Given the description of an element on the screen output the (x, y) to click on. 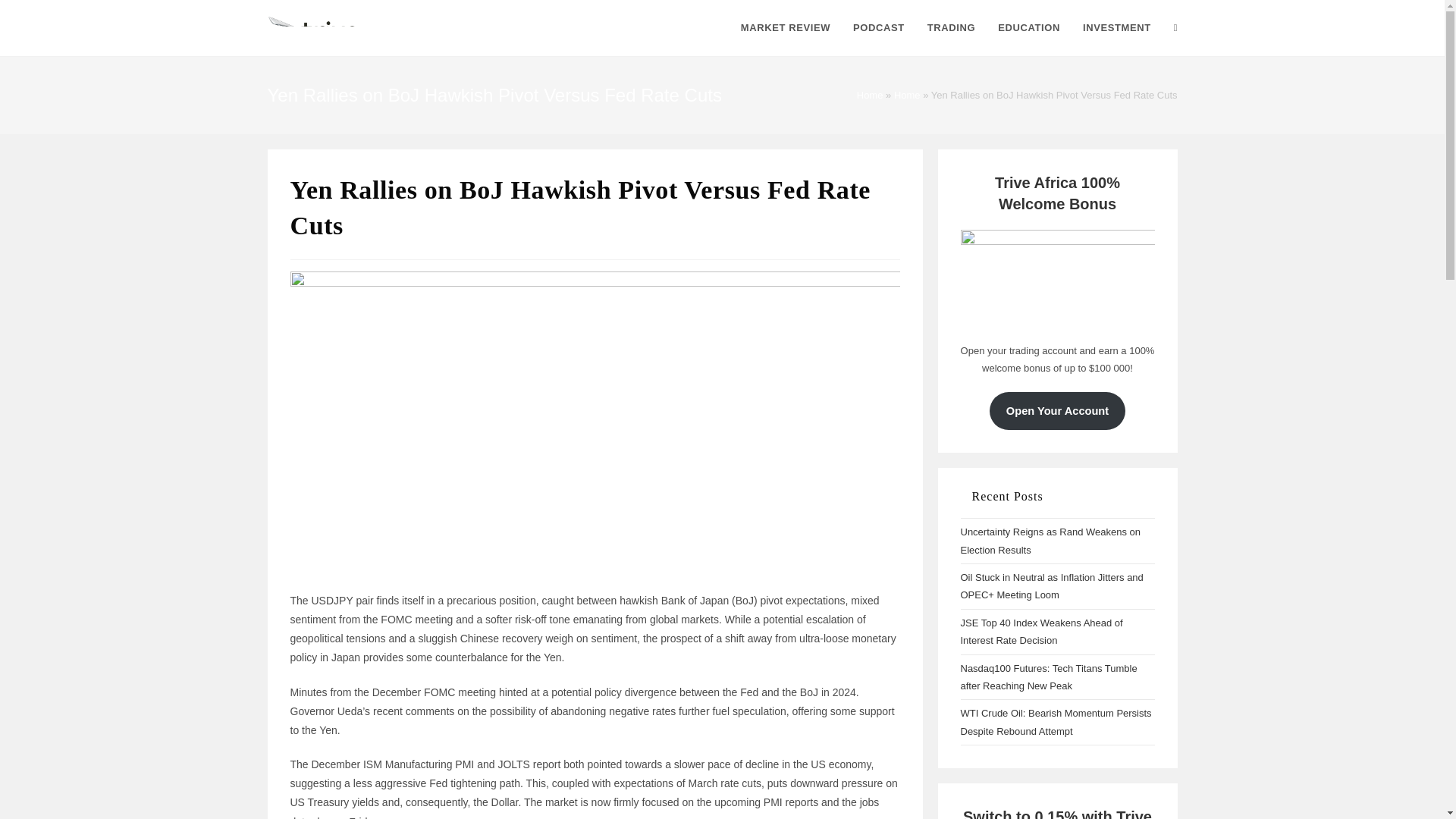
Open Your Account (1057, 410)
Home (870, 94)
Home (906, 94)
Uncertainty Reigns as Rand Weakens on Election Results (1049, 540)
PODCAST (878, 28)
MARKET REVIEW (785, 28)
EDUCATION (1029, 28)
INVESTMENT (1116, 28)
JSE Top 40 Index Weakens Ahead of Interest Rate Decision (1040, 631)
